Given the description of an element on the screen output the (x, y) to click on. 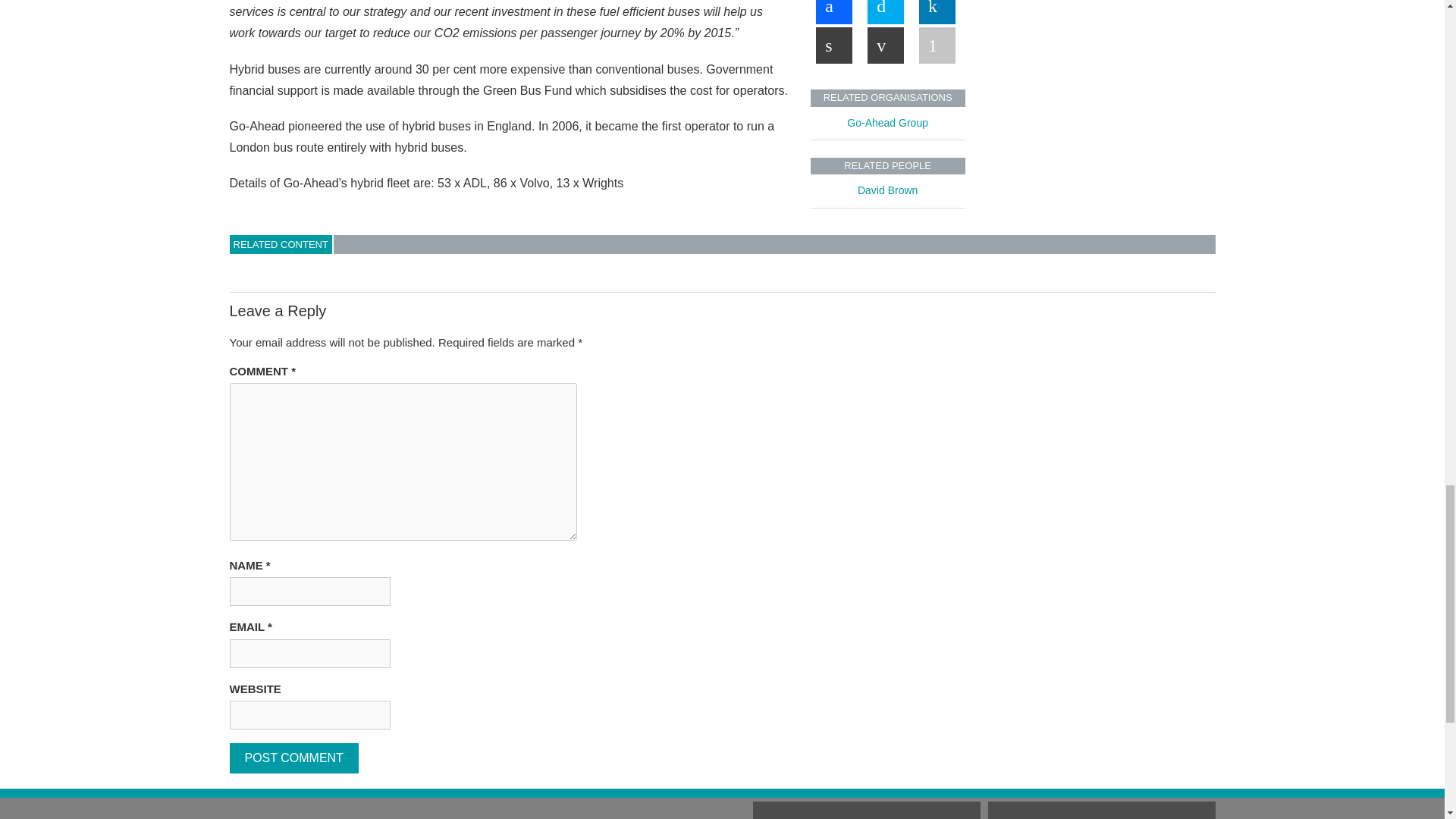
Post Comment (293, 757)
